Given the description of an element on the screen output the (x, y) to click on. 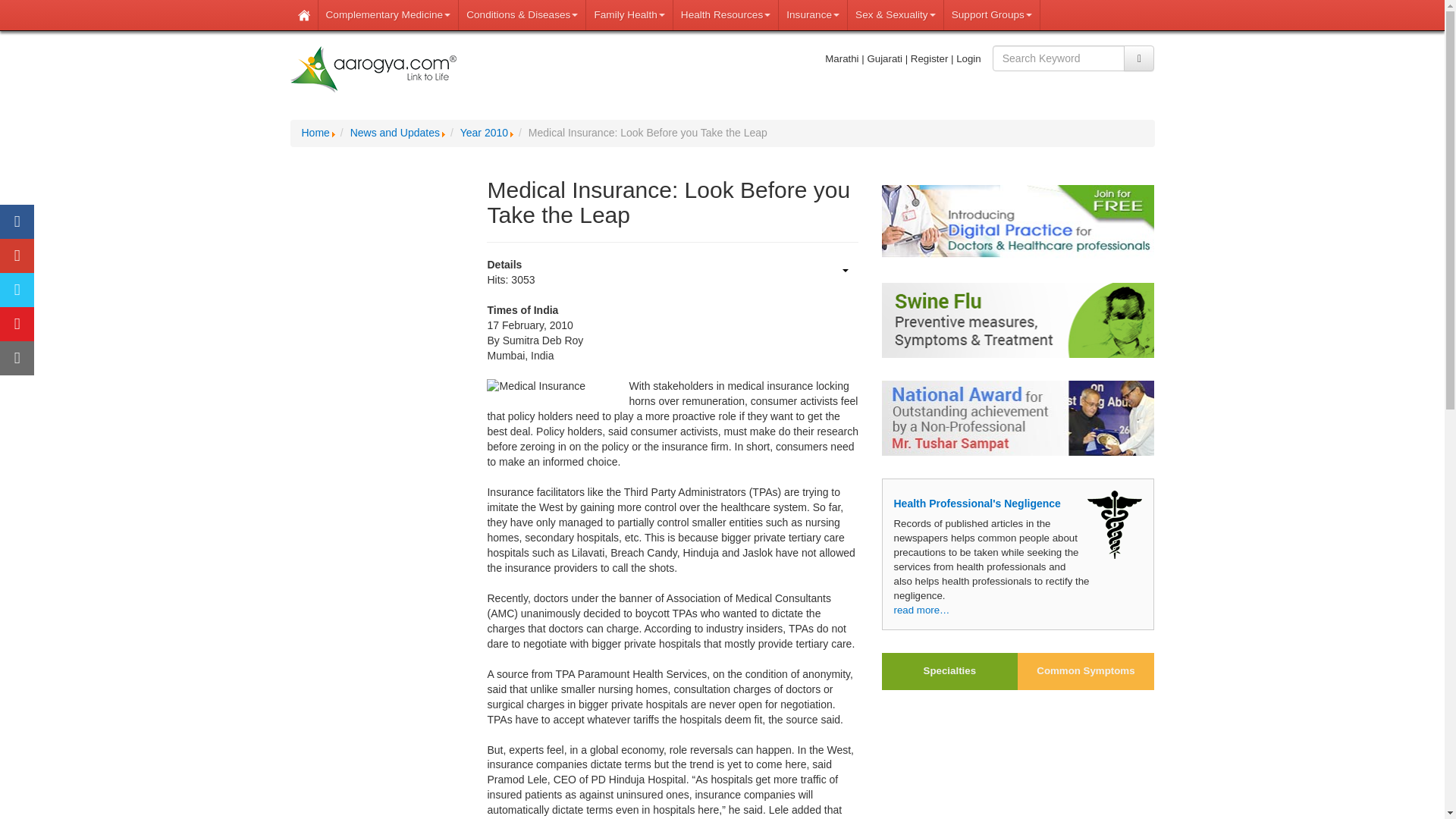
Facebook (16, 221)
Advertisement (376, 389)
Medical Insurance (535, 386)
Complementary Medicine (389, 15)
Aarogya.com (373, 69)
Swine Flu (1017, 319)
Advertisement (376, 729)
Youtube (16, 324)
Advertisement (1017, 761)
Twitter (16, 289)
